Given the description of an element on the screen output the (x, y) to click on. 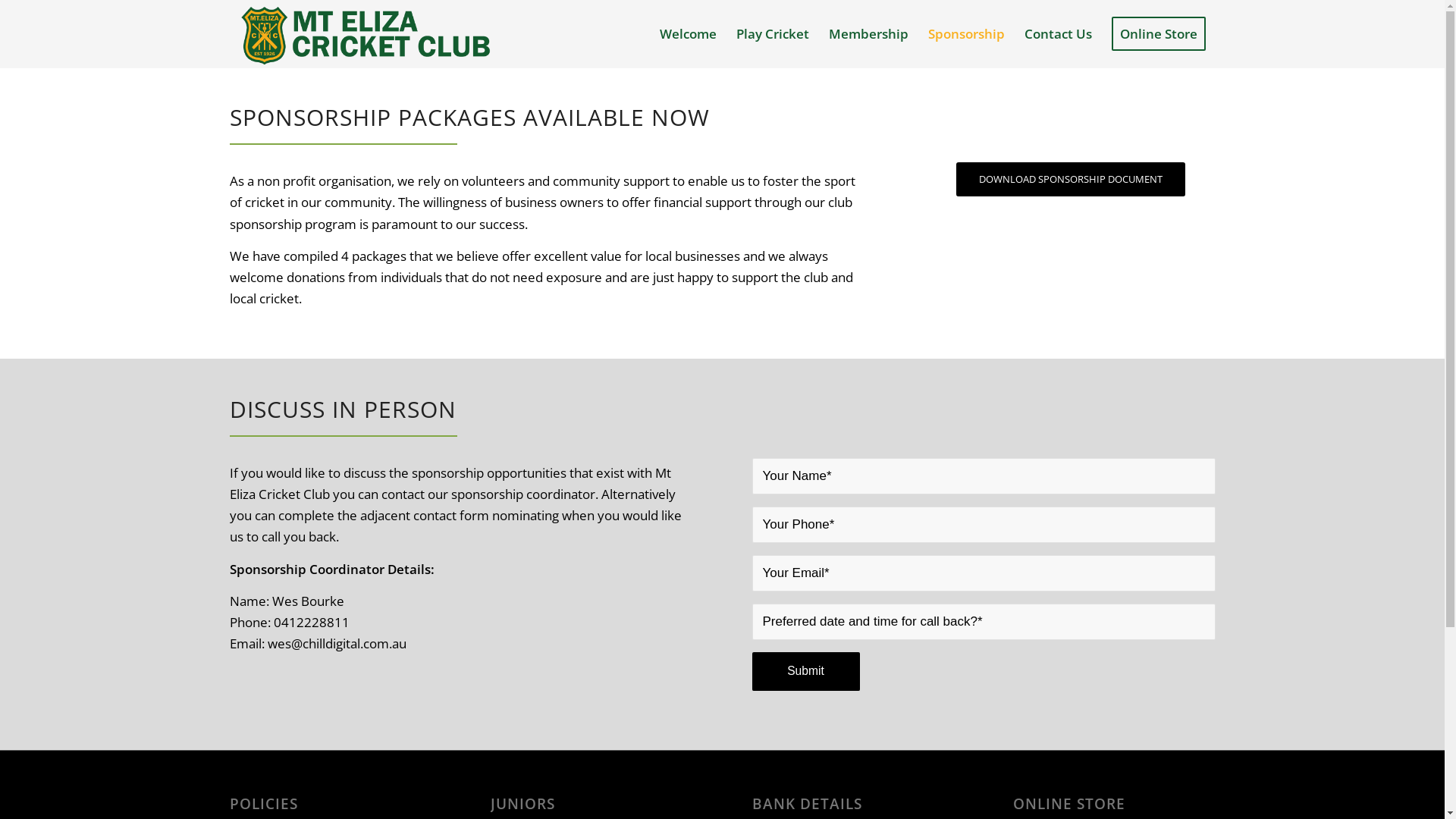
Online Store Element type: text (1157, 34)
Contact Us Element type: text (1057, 34)
Play Cricket Element type: text (772, 34)
DOWNLOAD SPONSORSHIP DOCUMENT Element type: text (1070, 179)
Membership Element type: text (868, 34)
Submit Element type: text (805, 671)
Sponsorship Element type: text (965, 34)
MECC Web logo Element type: hover (365, 34)
Welcome Element type: text (687, 34)
